Given the description of an element on the screen output the (x, y) to click on. 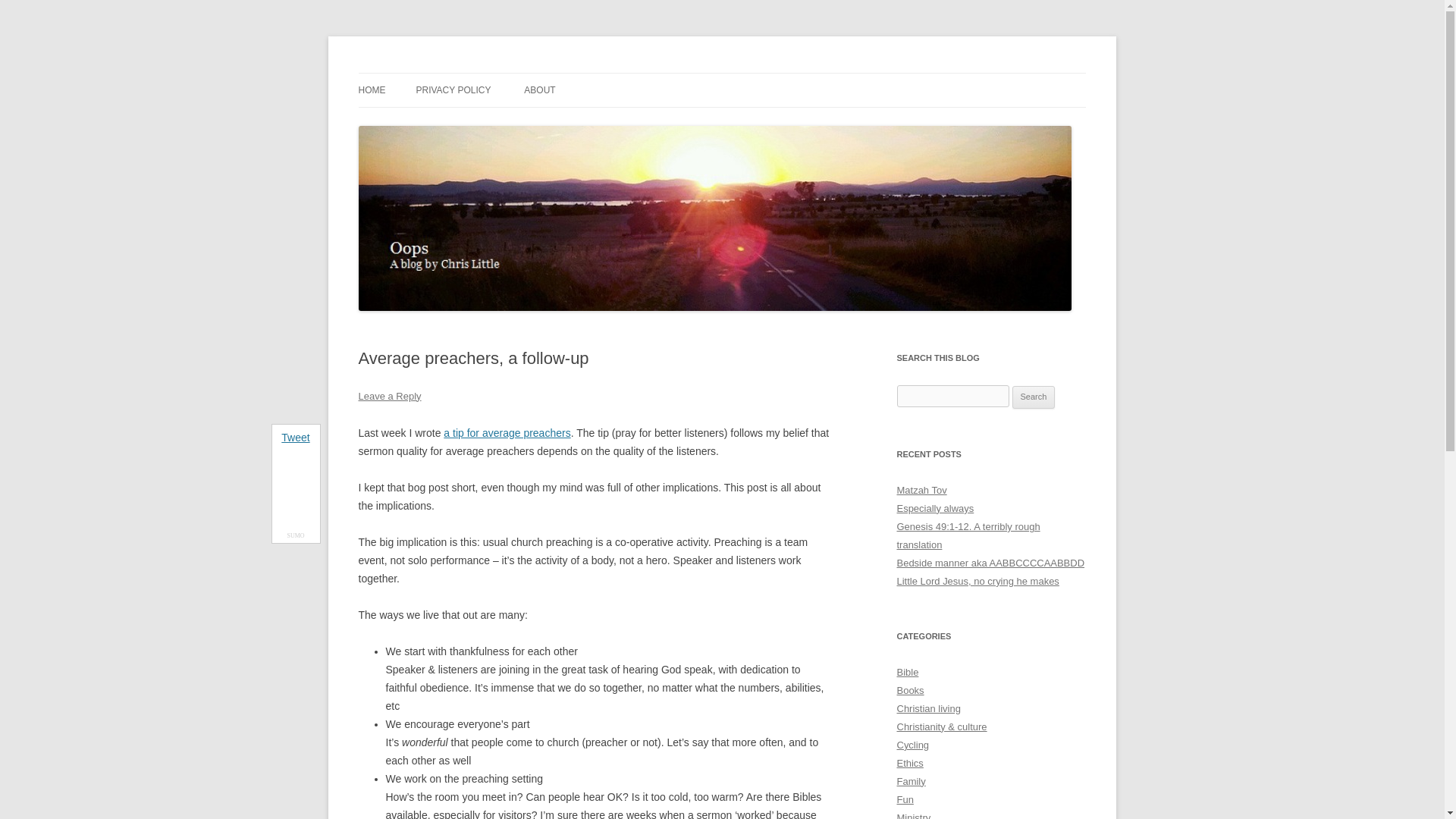
Tweet (294, 437)
Christian living (927, 708)
a tip for average preachers (507, 432)
Especially always (935, 508)
Ethics (909, 763)
Ministry (913, 815)
SUMO (295, 535)
Books (909, 690)
Search (1033, 396)
Matzah Tov (921, 490)
Search (1033, 396)
PRIVACY POLICY (452, 90)
Little Lord Jesus, no crying he makes (977, 581)
ABOUT (539, 90)
Bedside manner aka AABBCCCCAABBDD (990, 562)
